Given the description of an element on the screen output the (x, y) to click on. 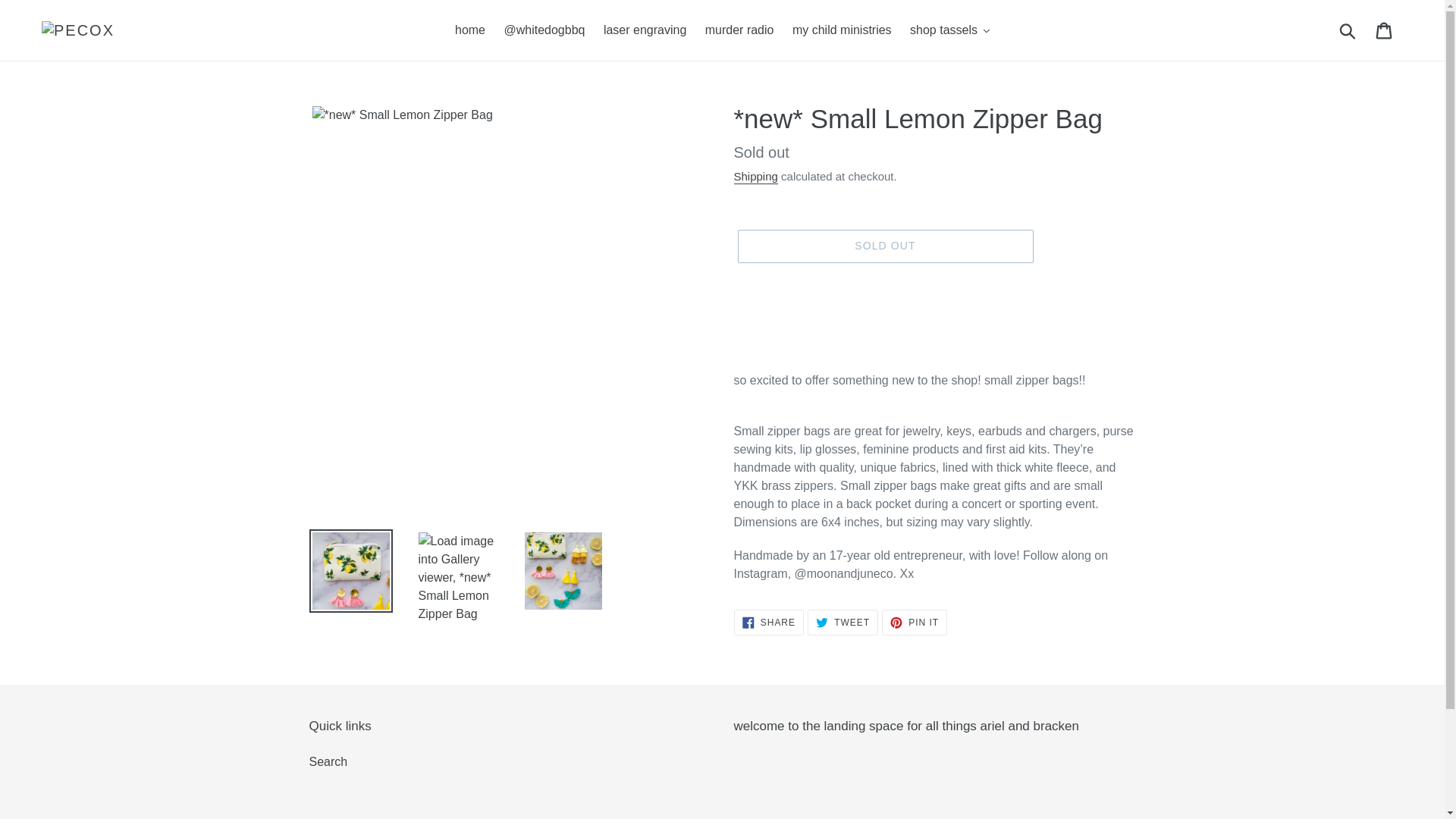
murder radio (739, 29)
Submit (1348, 29)
my child ministries (841, 29)
home (469, 29)
Cart (1385, 29)
laser engraving (644, 29)
